Given the description of an element on the screen output the (x, y) to click on. 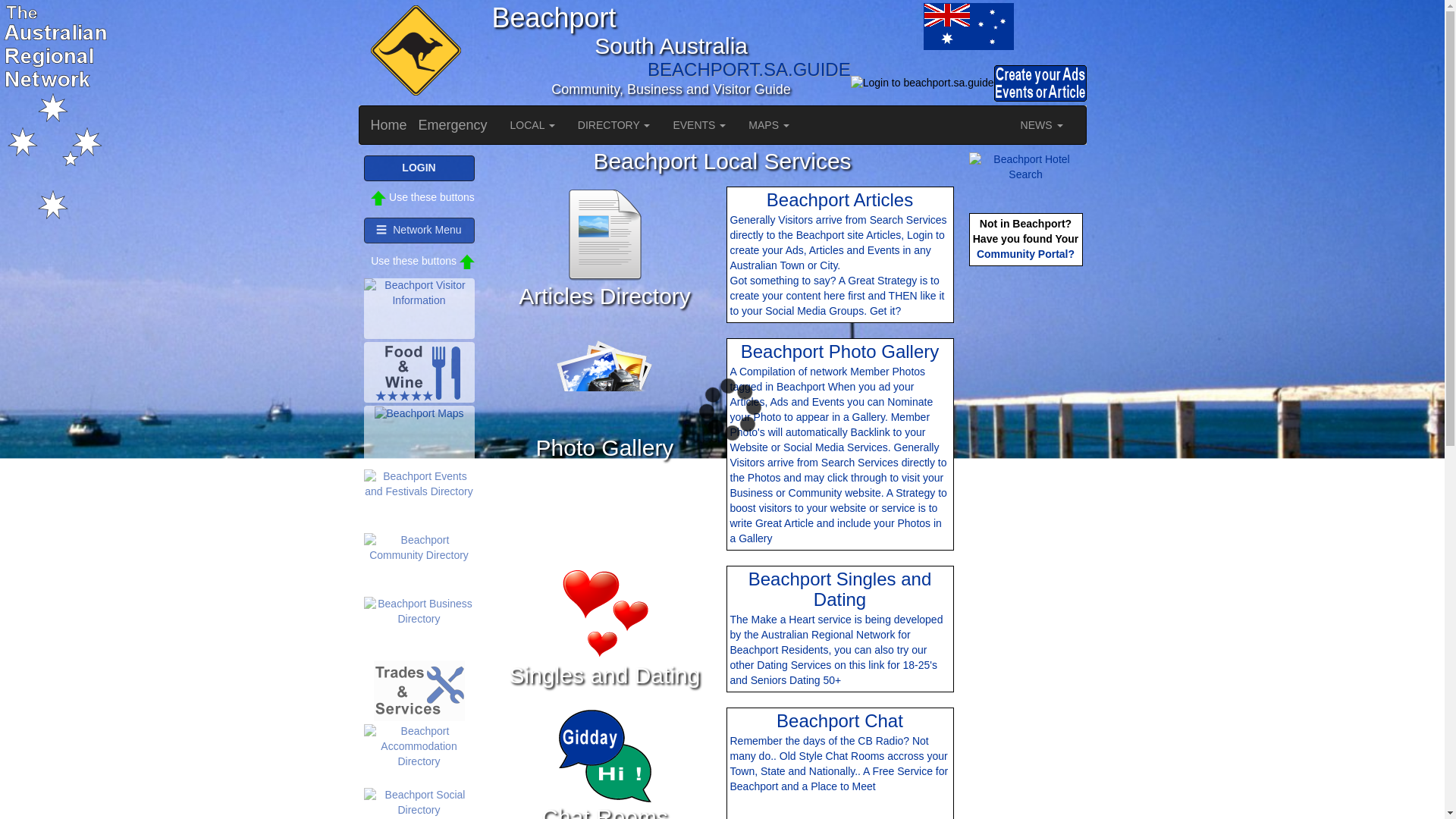
Beachport Articles (604, 234)
LOCAL (532, 125)
Beachport Hotel Search Engine (1026, 167)
Beachport Singles and Dating (604, 613)
DIRECTORY (614, 125)
Australia (886, 26)
Beachport Members Photo Gallery (604, 386)
Emergency (453, 125)
Login to beachport.sa.guide (922, 83)
Beachport Skippycoin ICG (413, 52)
Beachport Chat (604, 755)
Home (389, 125)
Beachport Australia (968, 26)
